Given the description of an element on the screen output the (x, y) to click on. 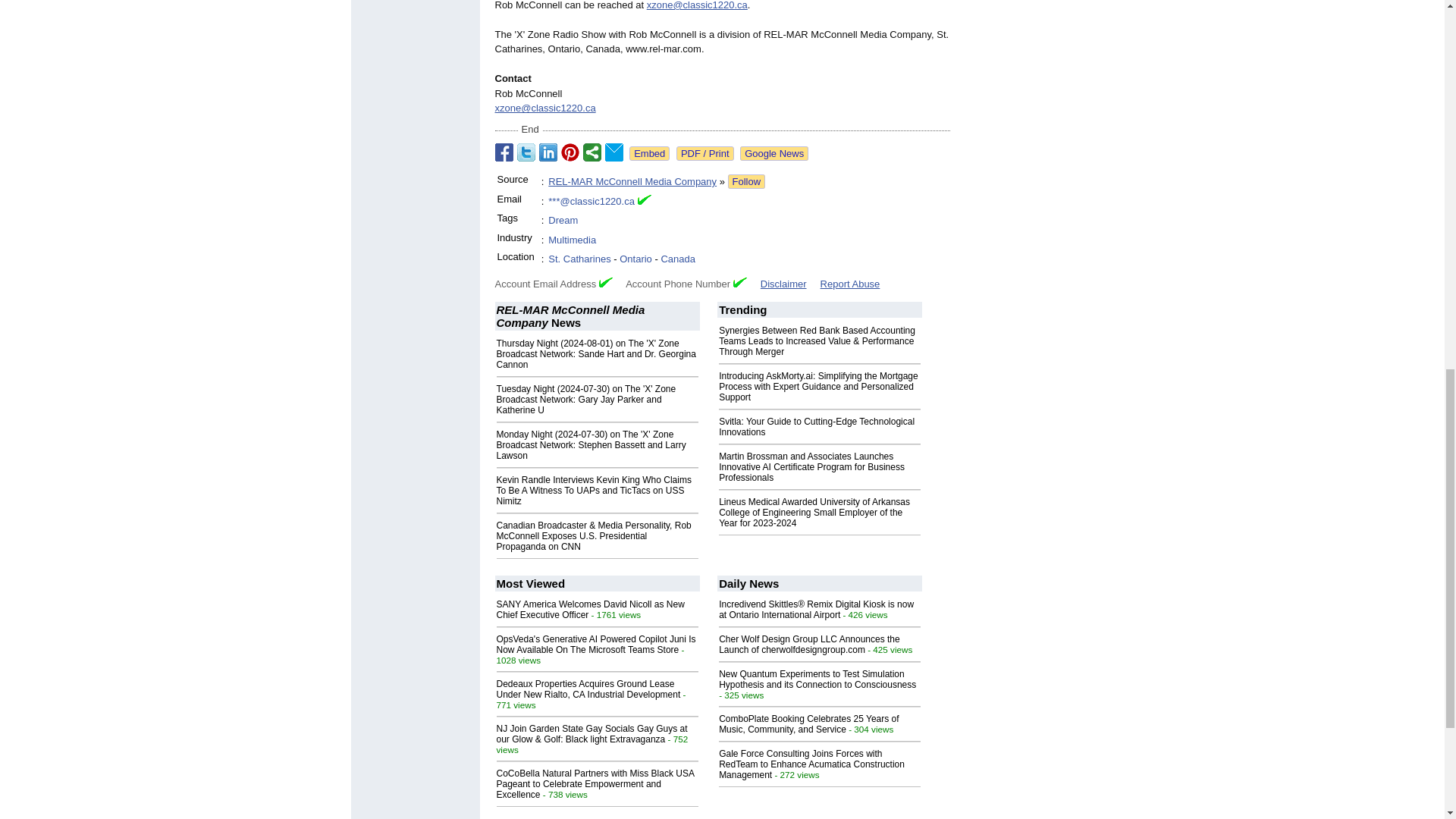
Share on Twitter (525, 152)
Share on StumbleUpon, Digg, etc (590, 152)
Share on Pinterest (569, 152)
Embed this press release in your website! (648, 153)
Email Verified (643, 201)
Share on Facebook (503, 152)
Email to a Friend (614, 152)
Verified (739, 282)
See or print the PDF version! (705, 153)
